Given the description of an element on the screen output the (x, y) to click on. 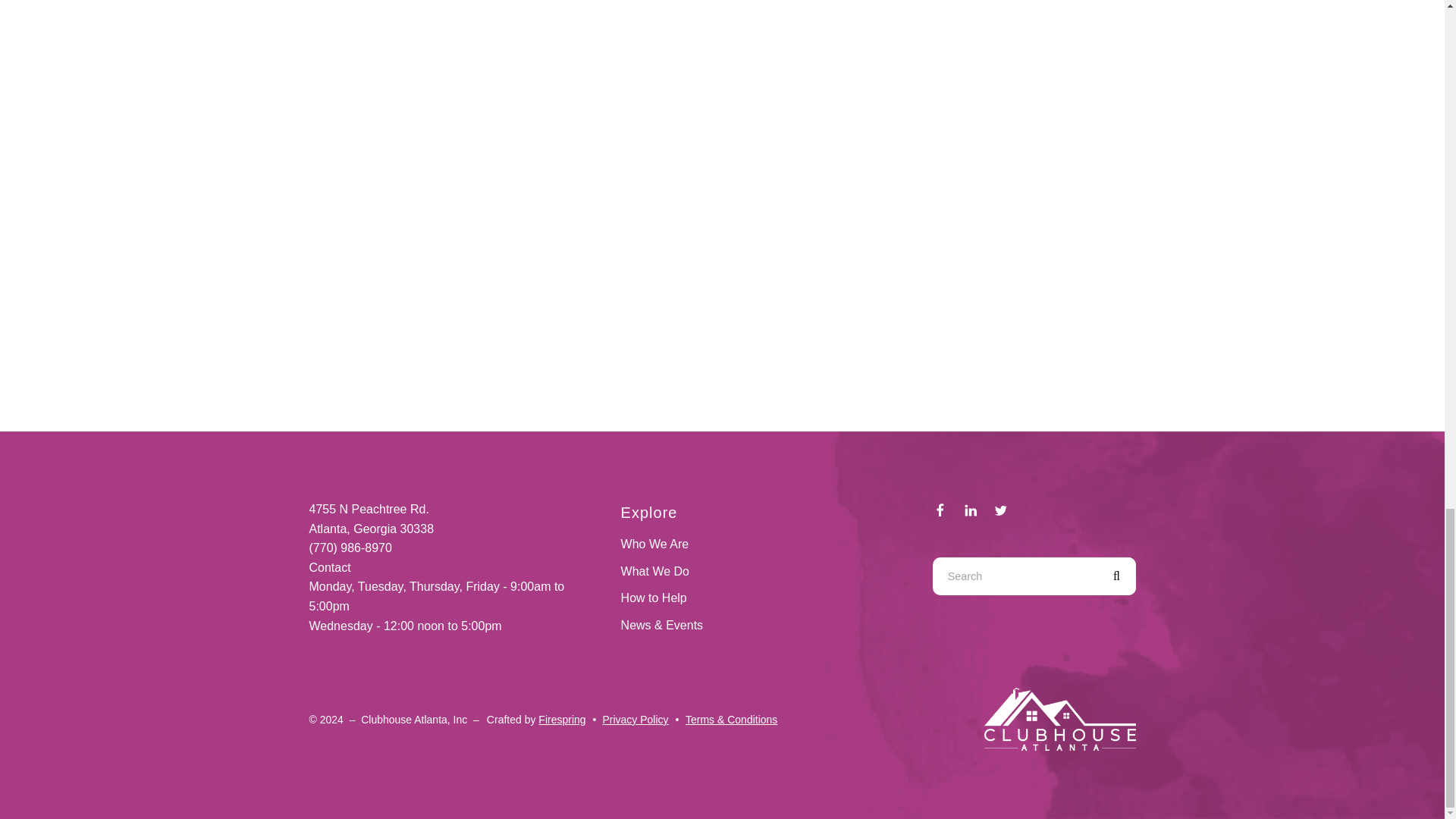
How to Help (654, 597)
Contact (329, 567)
logo (1059, 719)
Firespring (561, 719)
Who We Are (654, 543)
search (1116, 576)
What We Do (654, 571)
Privacy Policy (635, 719)
search (1116, 576)
